Given the description of an element on the screen output the (x, y) to click on. 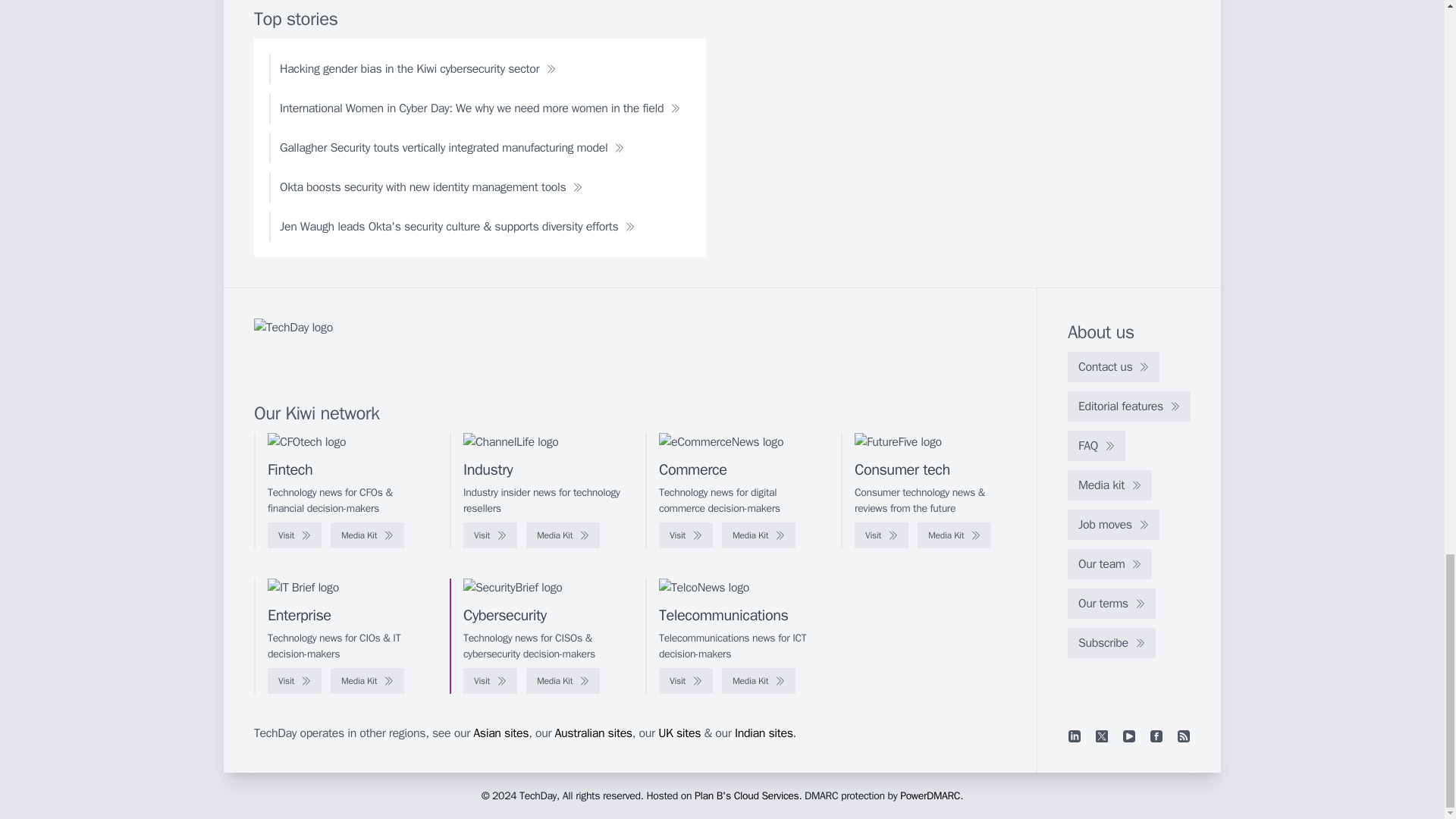
Media Kit (367, 534)
Hacking gender bias in the Kiwi cybersecurity sector (417, 69)
Visit (489, 534)
Visit (686, 534)
Okta boosts security with new identity management tools (430, 186)
Media Kit (562, 534)
Visit (294, 534)
Media Kit (954, 534)
